Given the description of an element on the screen output the (x, y) to click on. 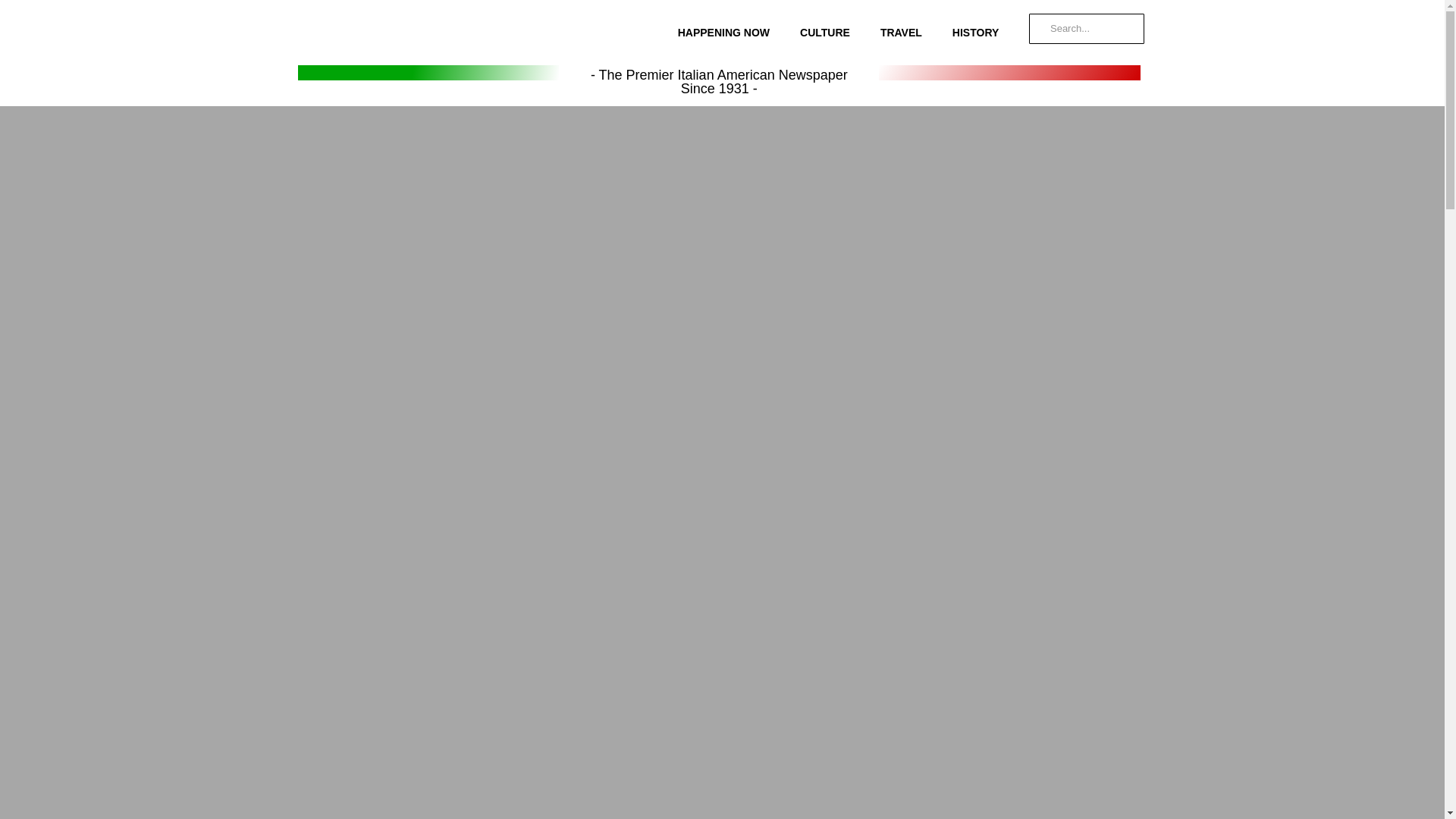
HAPPENING NOW (723, 32)
CULTURE (824, 32)
